Given the description of an element on the screen output the (x, y) to click on. 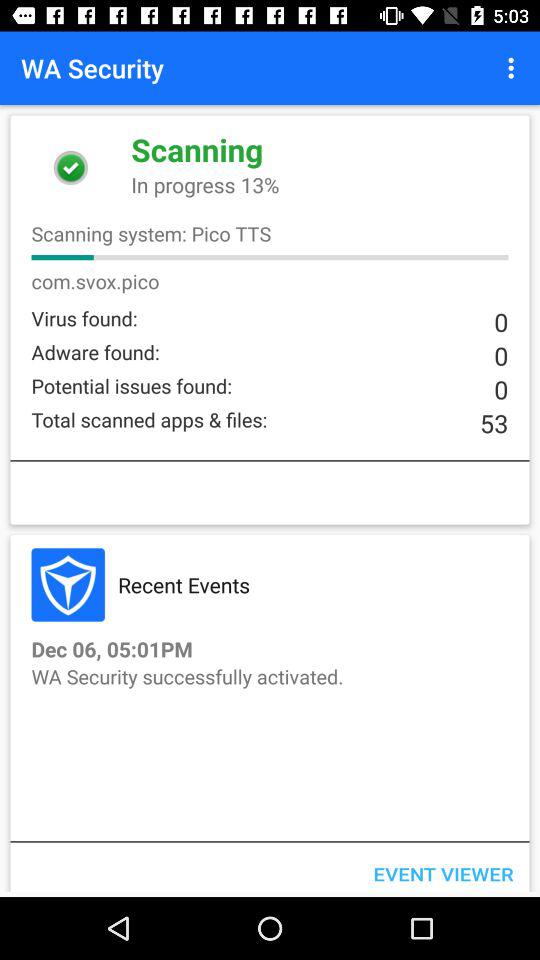
select the item to the right of the wa security item (513, 67)
